Given the description of an element on the screen output the (x, y) to click on. 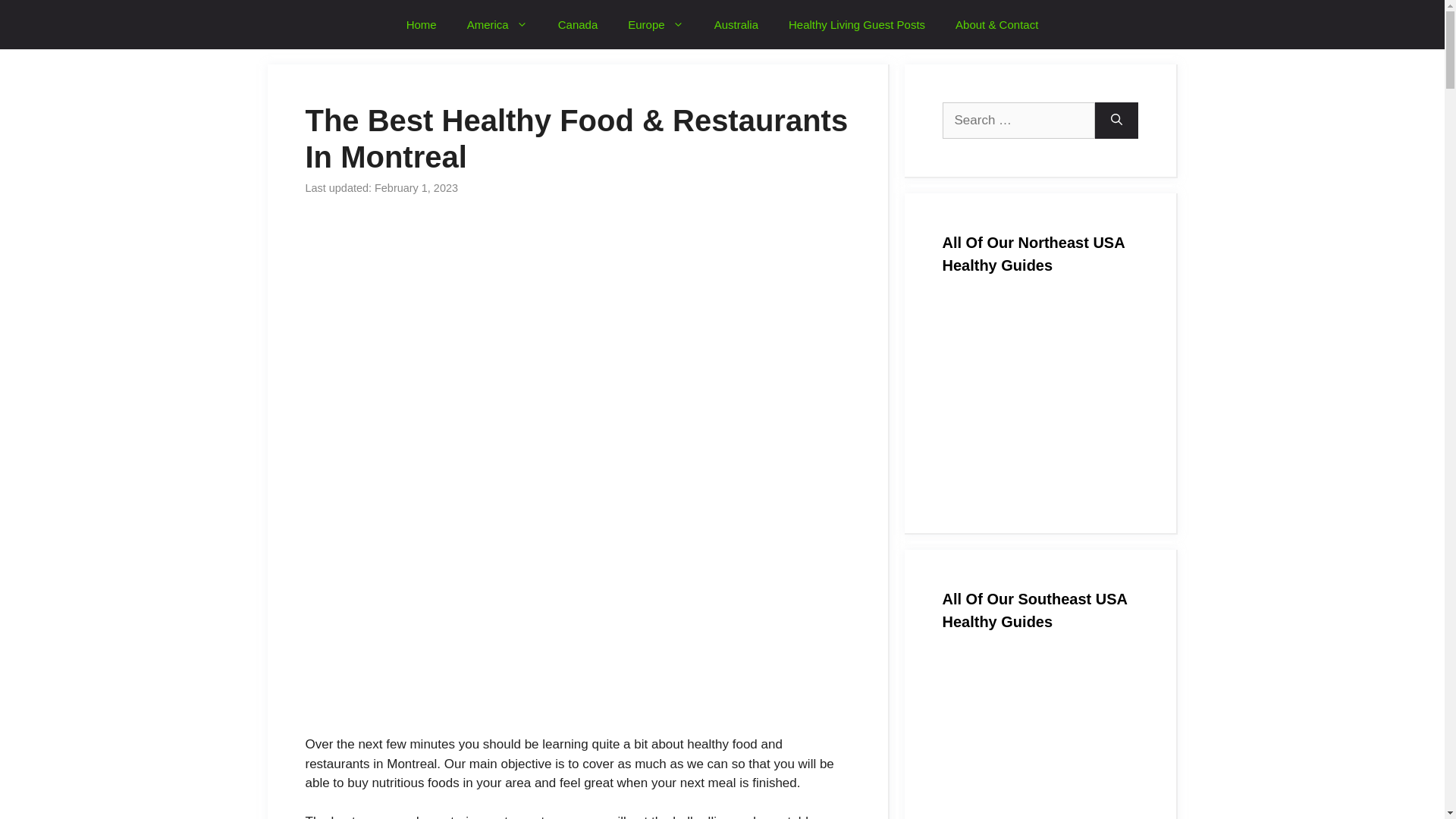
Home (421, 24)
Europe (655, 24)
Healthy Living Guest Posts (856, 24)
Search for: (1018, 120)
Canada (577, 24)
All Of Our Northeast USA Healthy Guides  (1039, 396)
America (497, 24)
All Of Our Southeast USA Healthy Guides  (1039, 737)
Australia (735, 24)
